Given the description of an element on the screen output the (x, y) to click on. 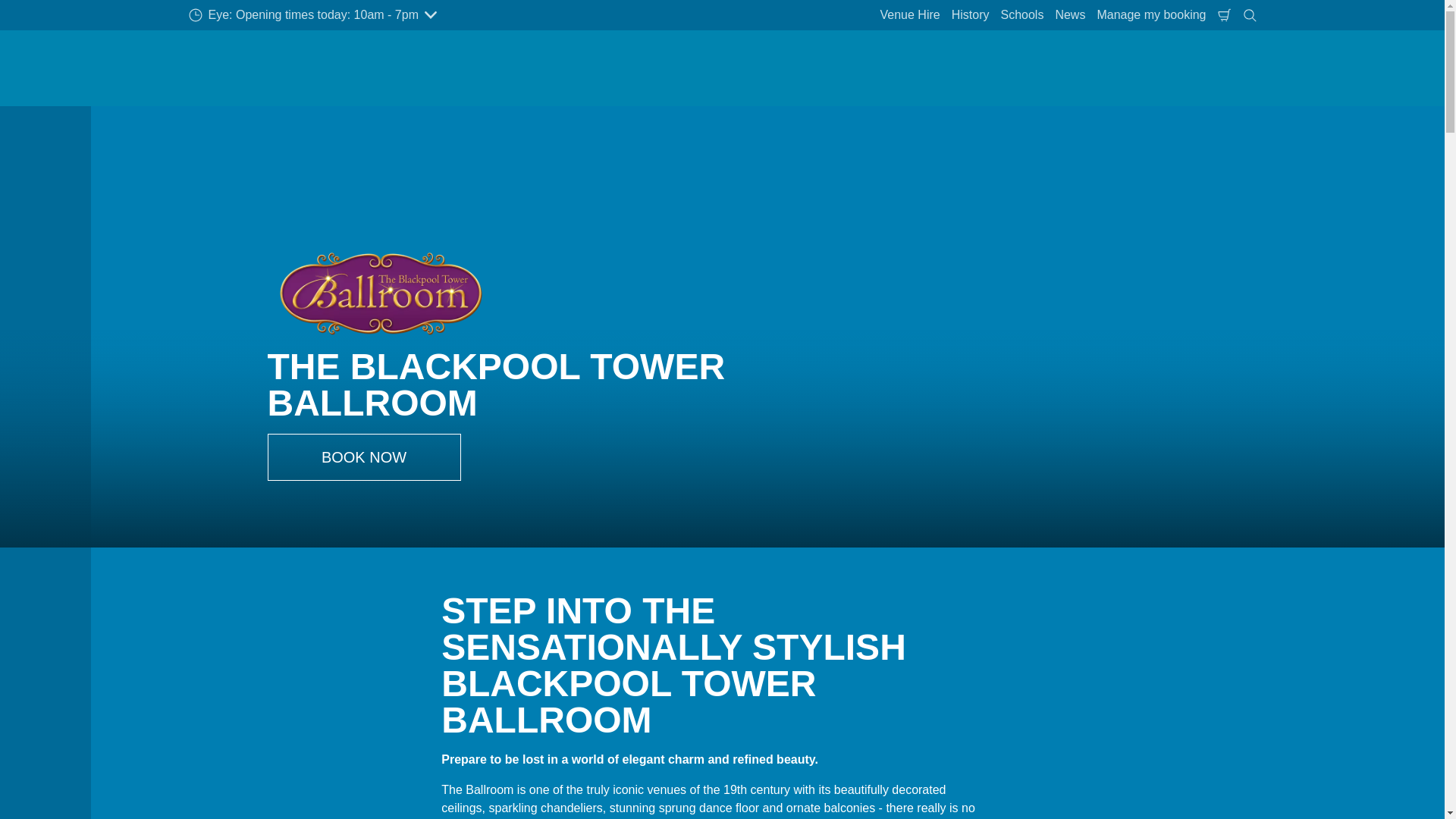
Eye: Opening times today: 10am - 7pm (312, 14)
Search (1249, 14)
Shopping Cart (1223, 14)
History (969, 14)
Venue Hire (909, 14)
Check out (1223, 14)
Schools (1020, 14)
News (1070, 14)
Manage my booking (1151, 14)
